Given the description of an element on the screen output the (x, y) to click on. 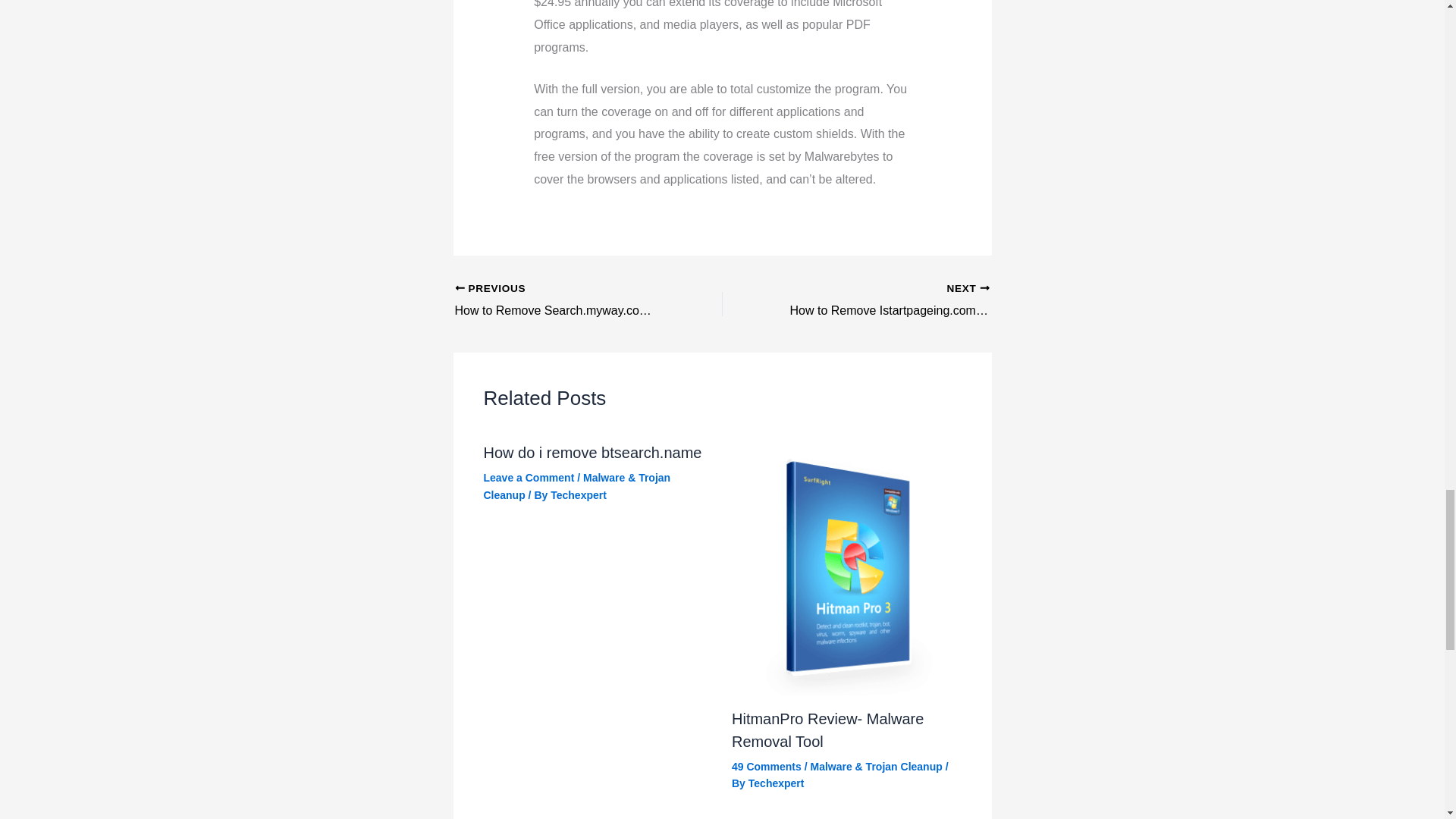
HitmanPro Review- Malware Removal Tool (827, 730)
View all posts by Techexpert (578, 494)
Techexpert (578, 494)
How do i remove btsearch.name (592, 452)
View all posts by Techexpert (776, 783)
Leave a Comment (529, 477)
